Given the description of an element on the screen output the (x, y) to click on. 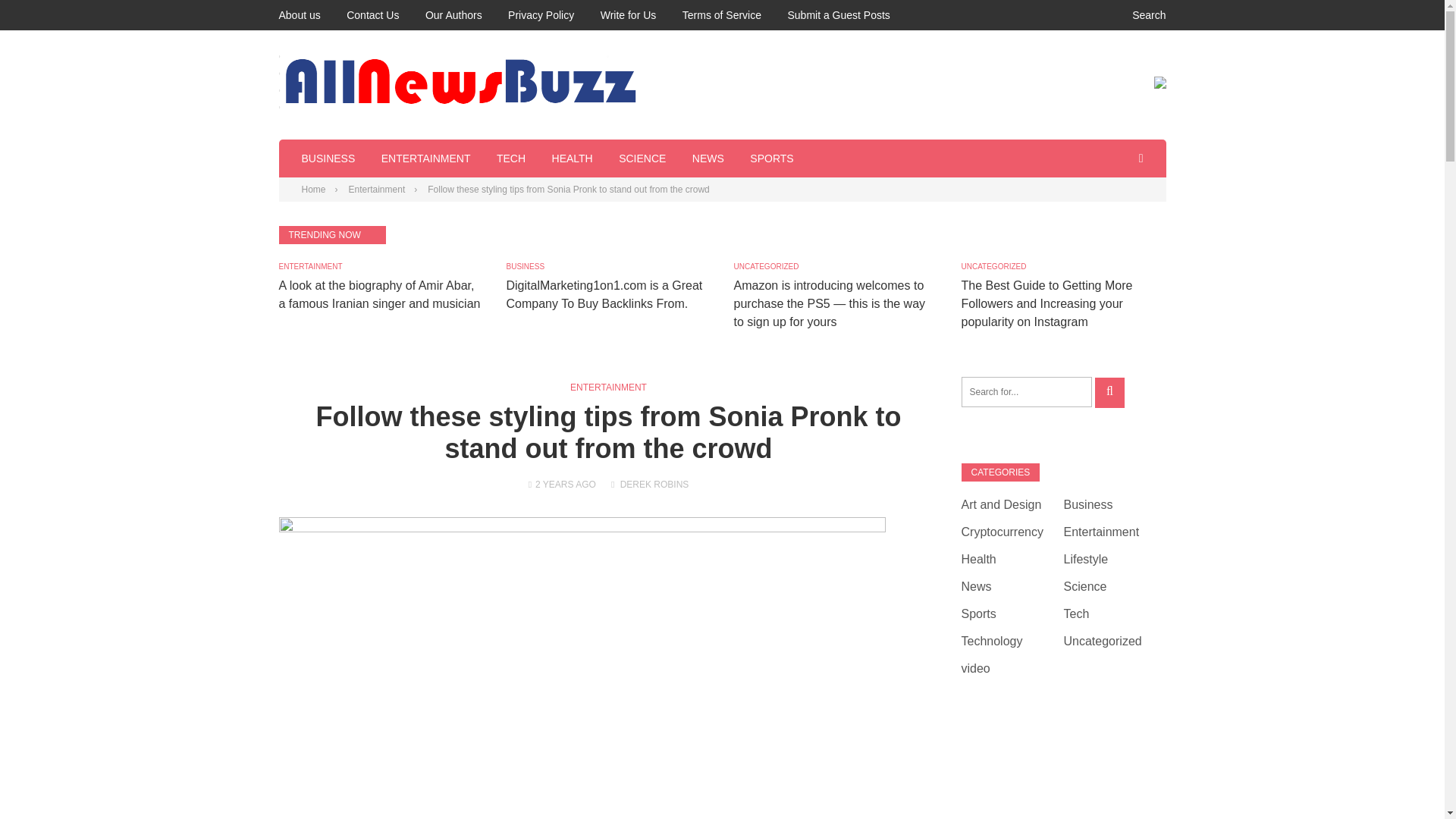
UNCATEGORIZED (766, 266)
Submit a Guest Posts (838, 15)
Entertainment (377, 189)
Terms of Service (721, 15)
HEALTH (571, 158)
Home (313, 189)
Privacy Policy (540, 15)
SPORTS (771, 158)
ENTERTAINMENT (425, 158)
About us (299, 15)
2 YEARS (554, 484)
SCIENCE (641, 158)
BUSINESS (525, 266)
Search (1139, 15)
